Given the description of an element on the screen output the (x, y) to click on. 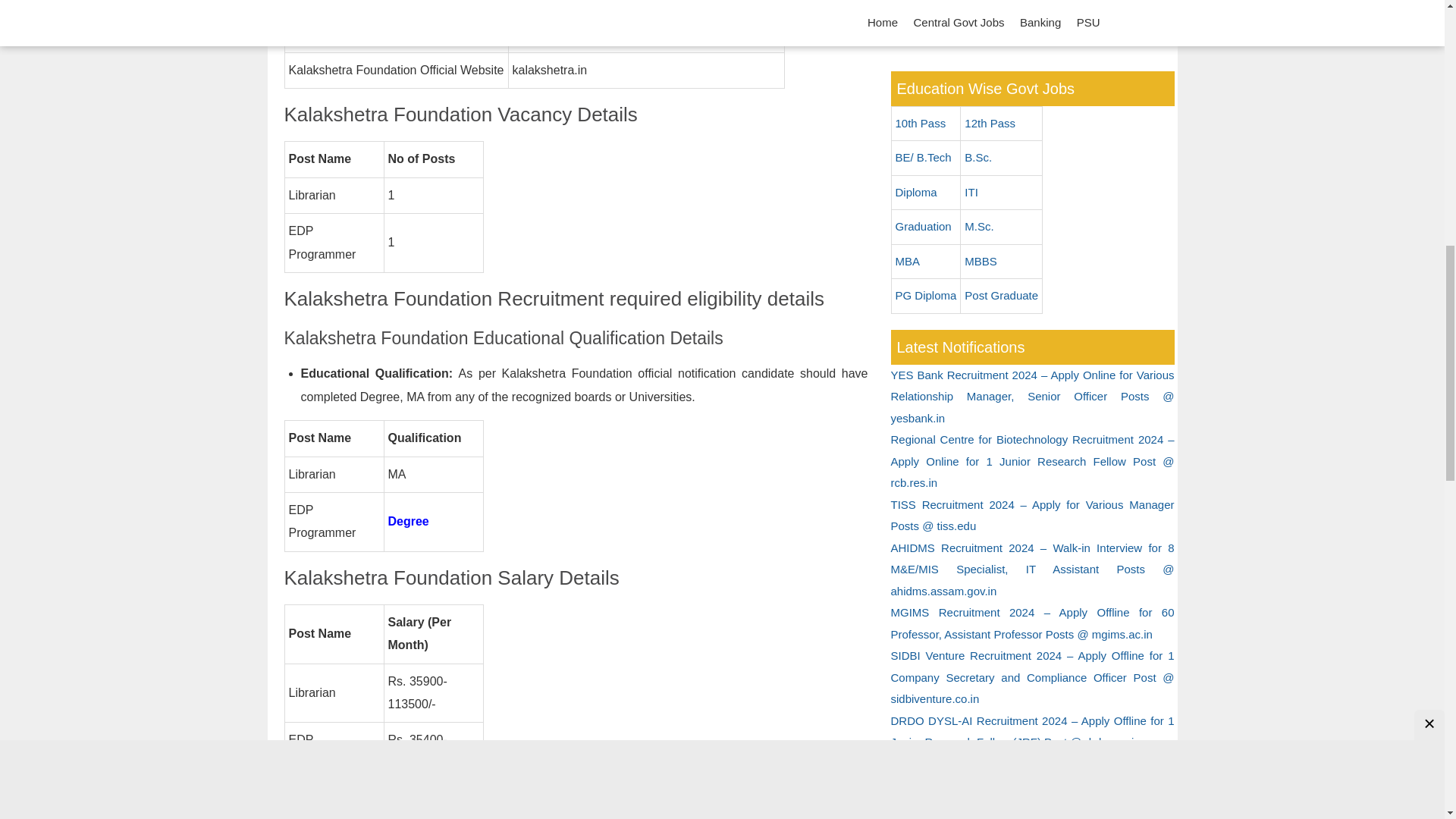
Tamil Nadu (602, 2)
West Bengal (960, 20)
10th Pass (925, 124)
Degree (408, 521)
UP (960, 1)
Uttarakhand (1101, 1)
